Given the description of an element on the screen output the (x, y) to click on. 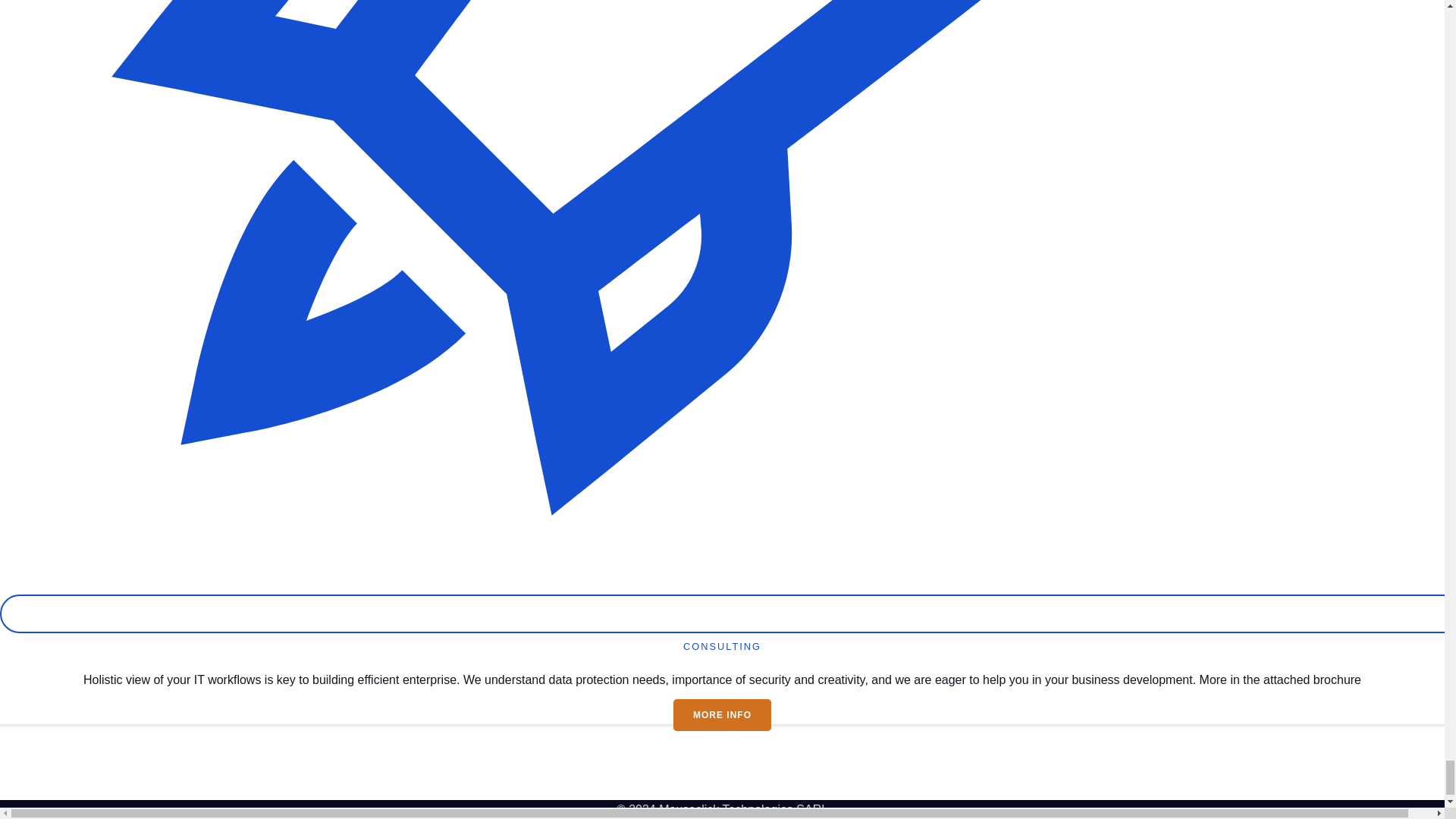
MORE INFO (721, 715)
